Given the description of an element on the screen output the (x, y) to click on. 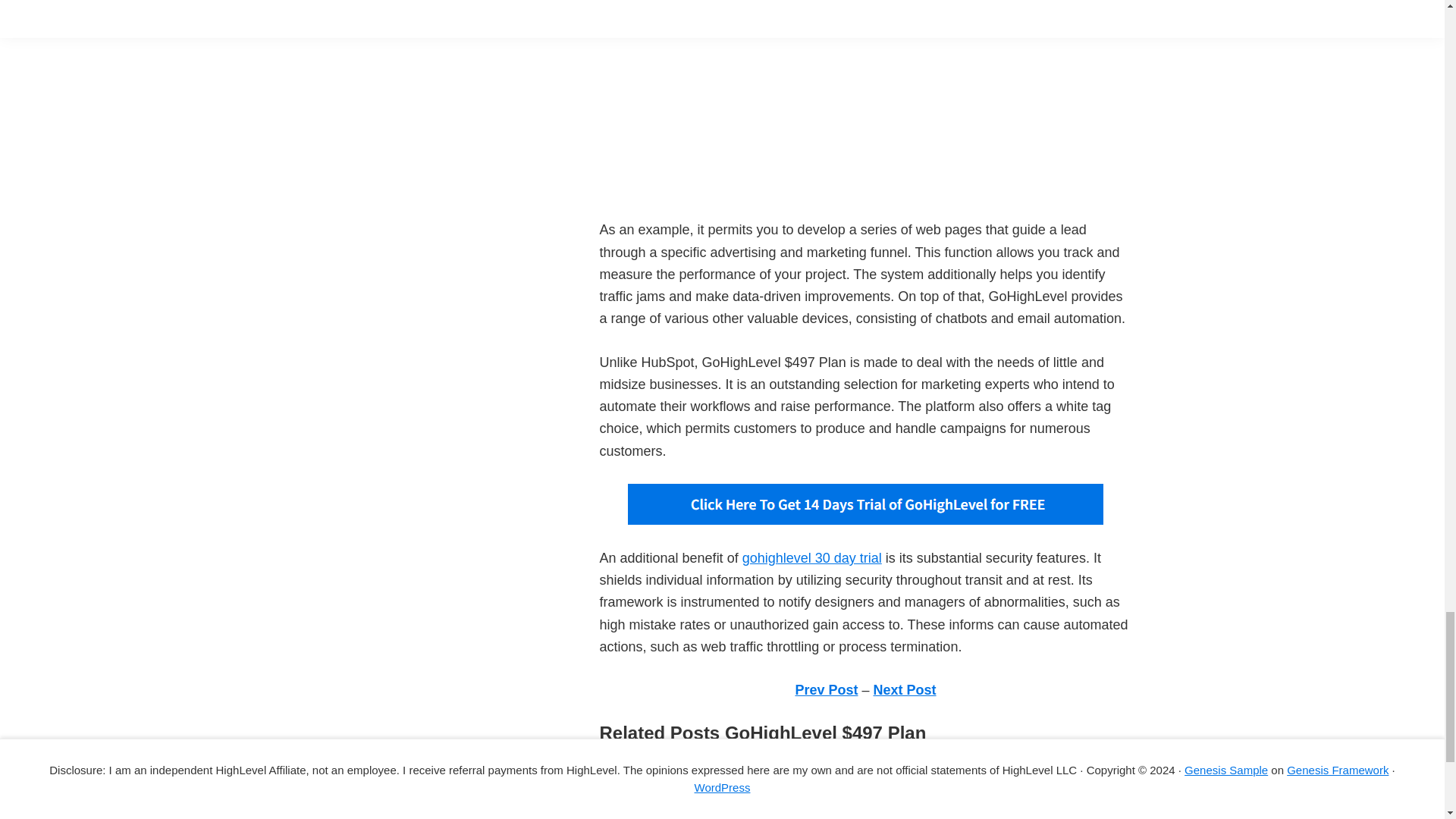
GoHighLevel Facebook (669, 813)
Is GoHighLevel a Pyramid Scheme (704, 792)
Prev Post (825, 689)
Translate GoHighLevel (668, 770)
Is GoHighLevel a Pyramid Scheme (704, 792)
Translate GoHighLevel (668, 770)
Next Post (904, 689)
GoHighLevel Facebook (669, 813)
gohighlevel 30 day trial (812, 557)
